Given the description of an element on the screen output the (x, y) to click on. 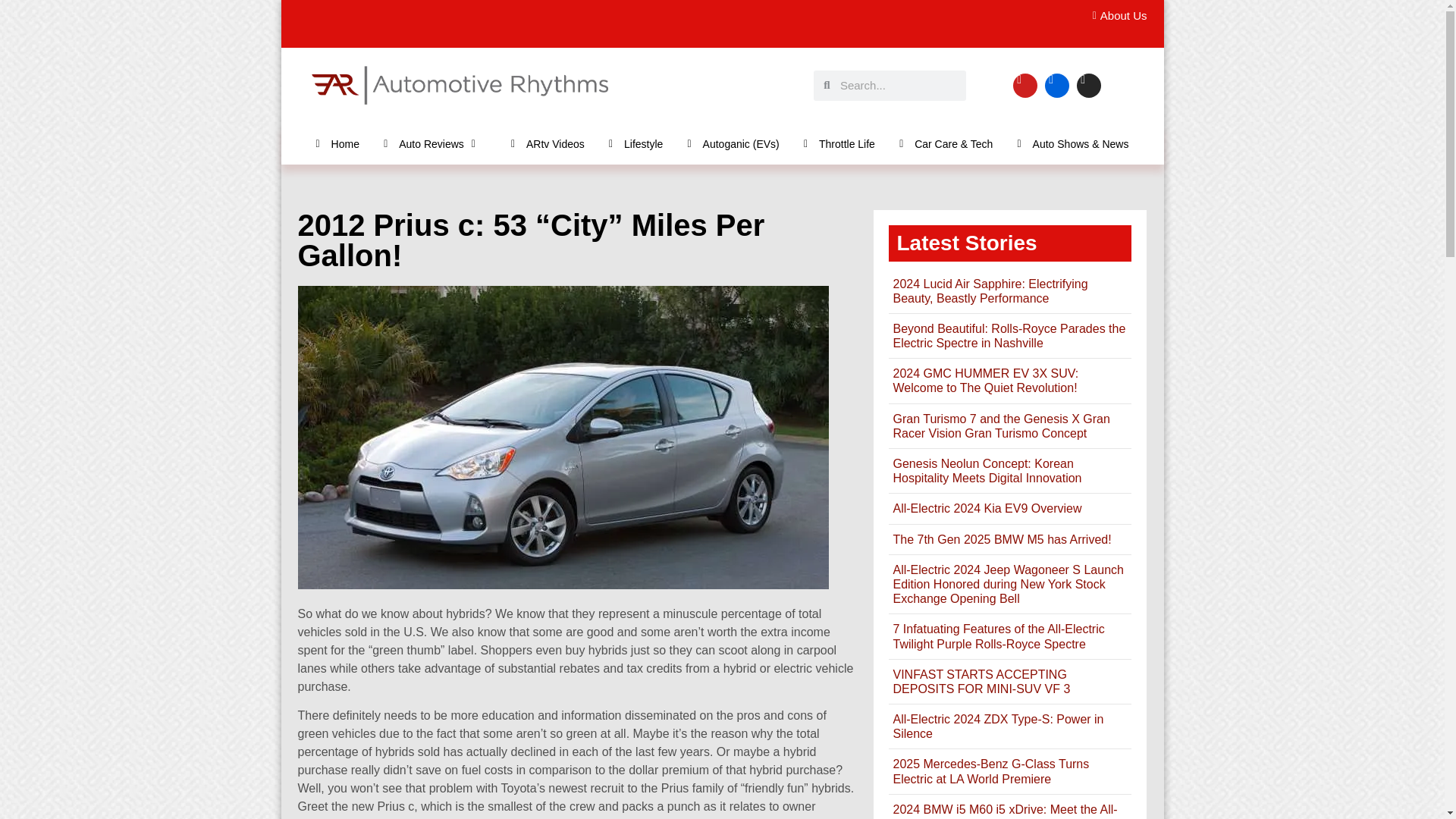
2024 BMW i5 M60 i5 xDrive: Meet the All-Electric 5 Series (1004, 811)
VINFAST STARTS ACCEPTING DEPOSITS FOR MINI-SUV VF 3 (981, 681)
ARtv Videos (547, 142)
All-Electric 2024 Kia EV9 Overview (986, 508)
Auto Reviews (435, 142)
The 7th Gen 2025 BMW M5 has Arrived! (1001, 539)
2024 GMC HUMMER EV 3X SUV: Welcome to The Quiet Revolution! (985, 379)
Lifestyle (635, 142)
